Given the description of an element on the screen output the (x, y) to click on. 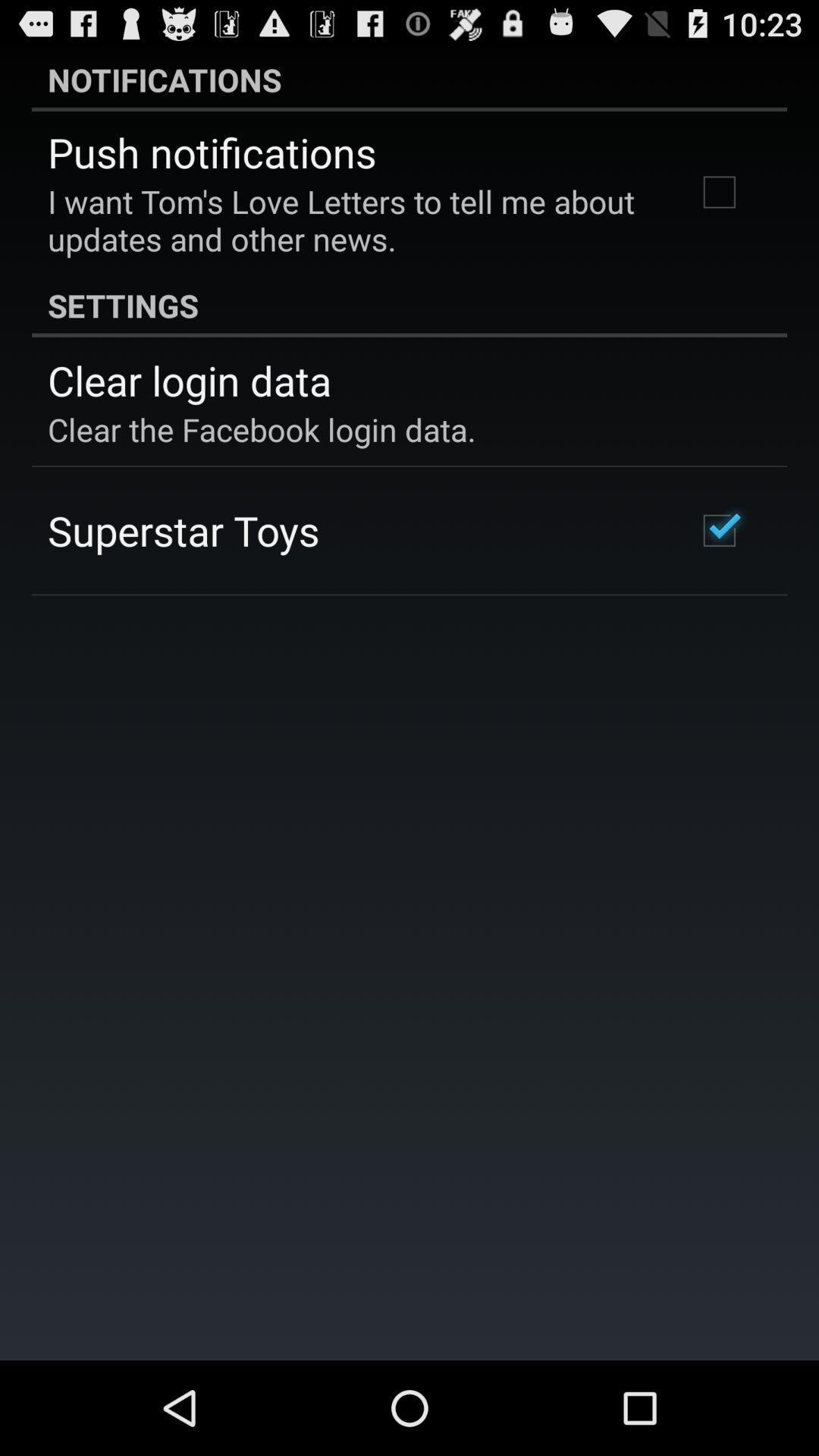
click icon below the clear the facebook icon (183, 529)
